Given the description of an element on the screen output the (x, y) to click on. 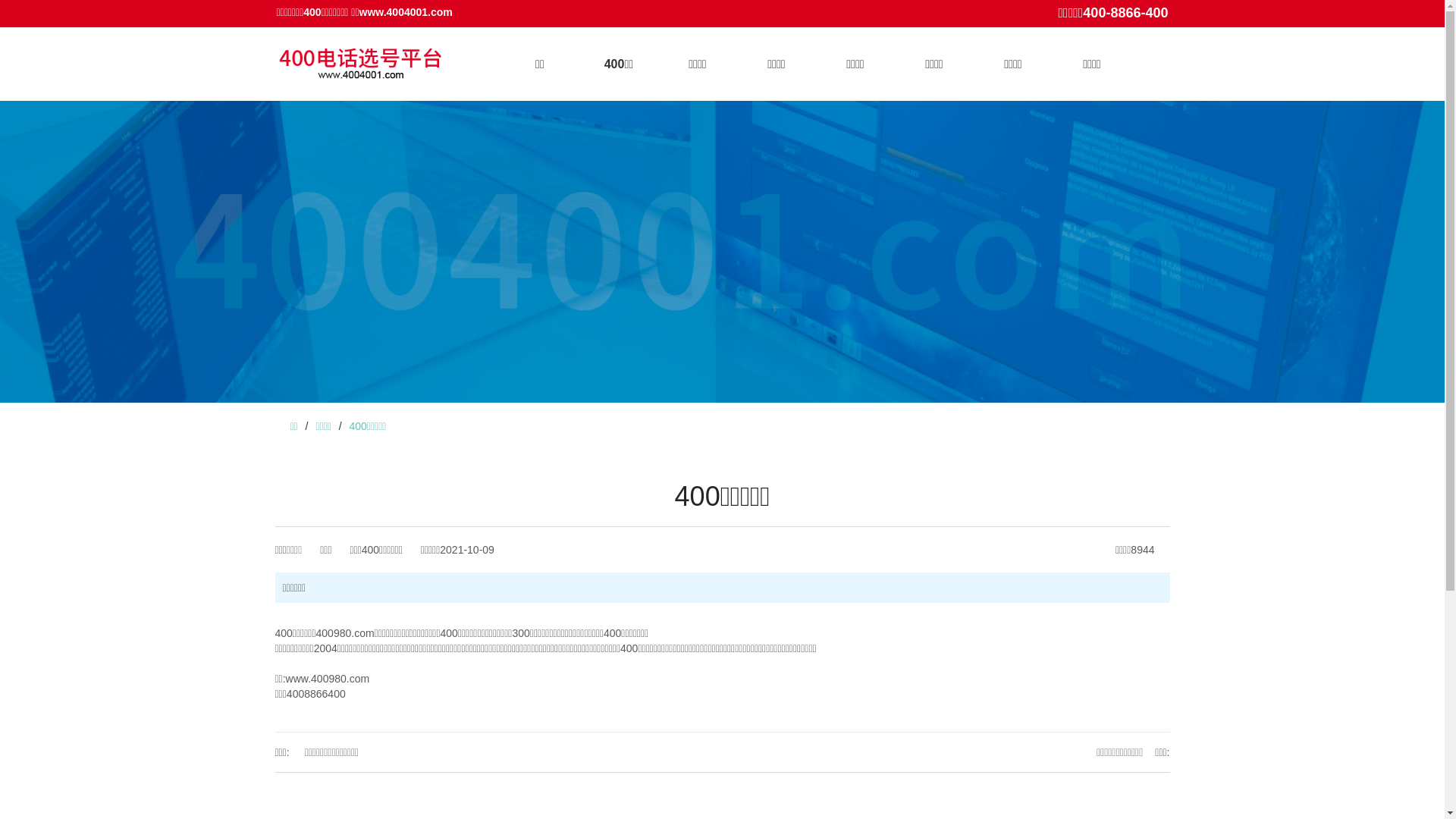
www.4004001.com Element type: text (405, 12)
400-8866-400 Element type: text (1124, 12)
